Given the description of an element on the screen output the (x, y) to click on. 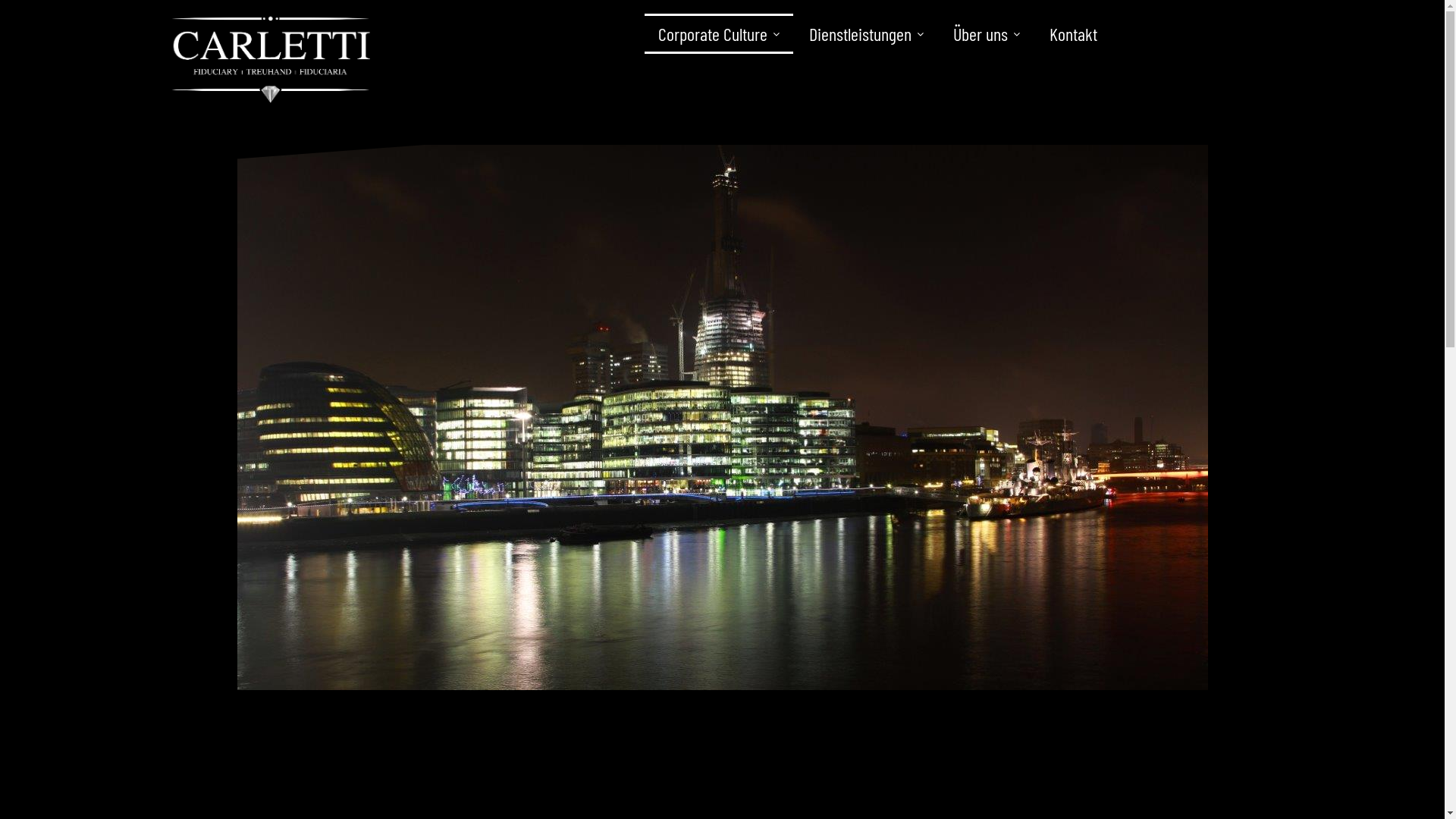
Dienstleistungen Element type: text (866, 33)
Corporate Culture Element type: text (718, 33)
Kontakt Element type: text (1072, 33)
